Given the description of an element on the screen output the (x, y) to click on. 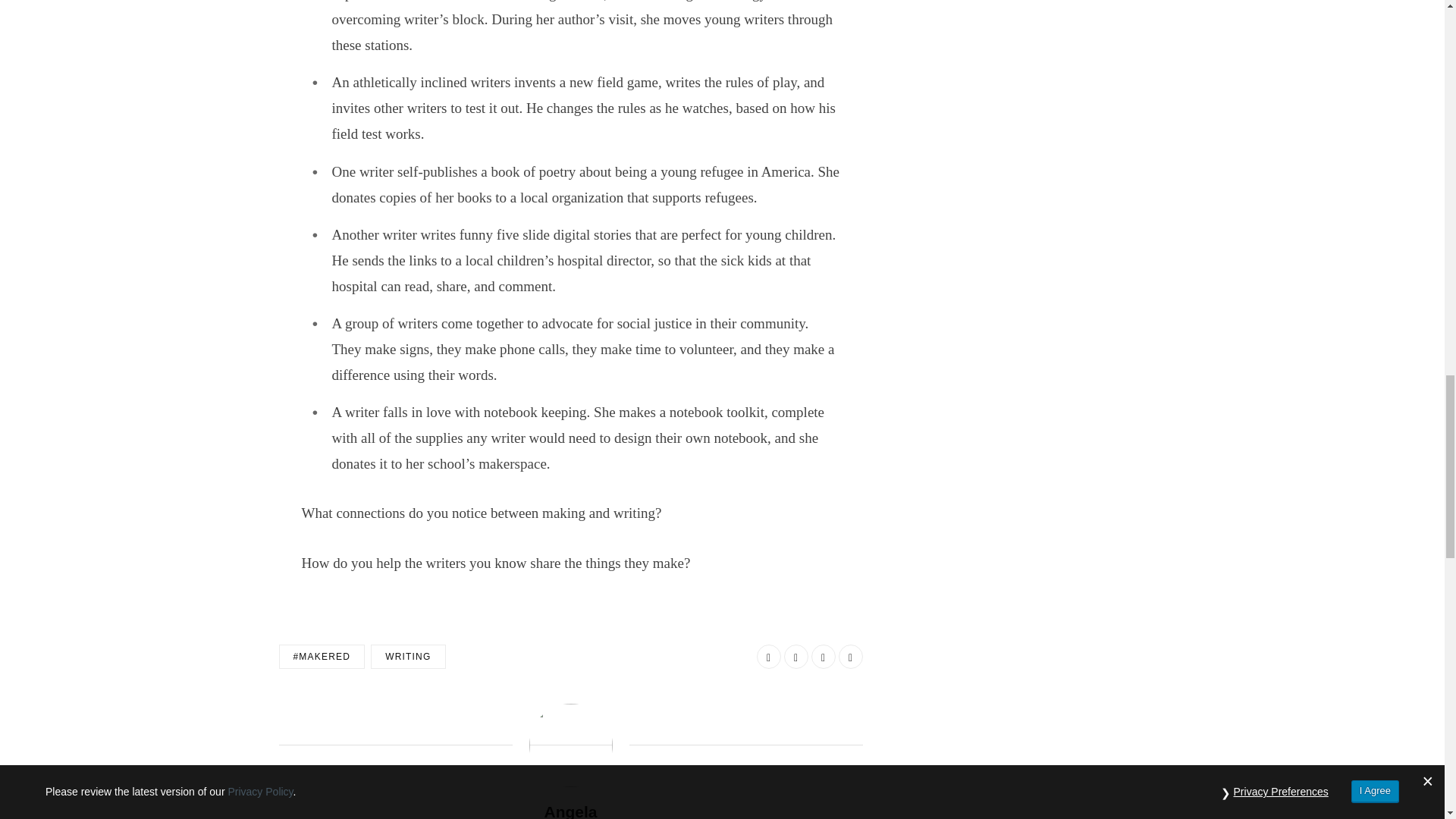
Angela (569, 809)
WRITING (408, 656)
Posts by Angela (569, 809)
Pinterest (850, 656)
LinkedIn (822, 656)
Share on Facebook (768, 656)
Share on Twitter (796, 656)
